Given the description of an element on the screen output the (x, y) to click on. 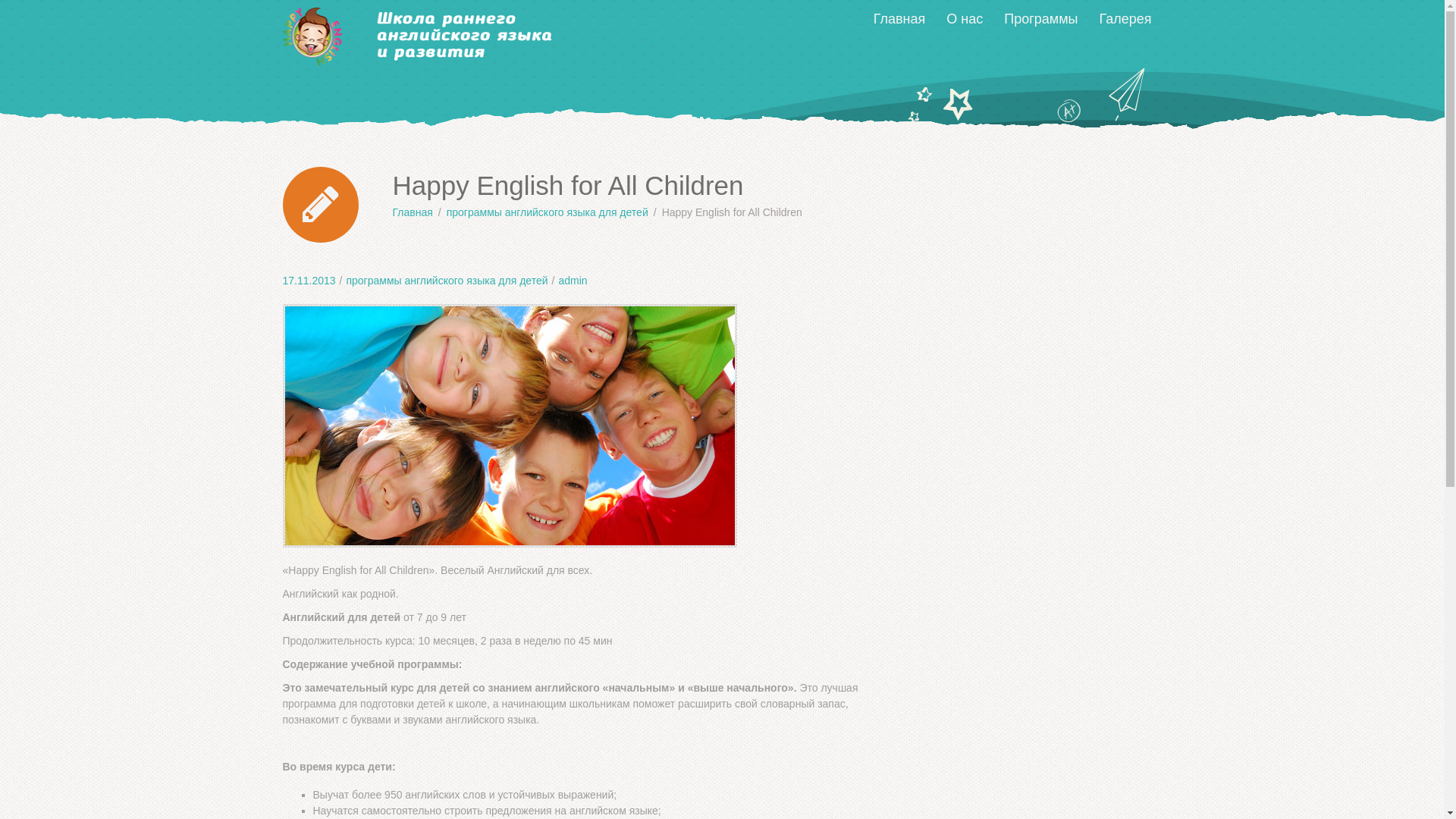
admin Element type: text (572, 280)
17.11.2013 Element type: text (308, 280)
